Given the description of an element on the screen output the (x, y) to click on. 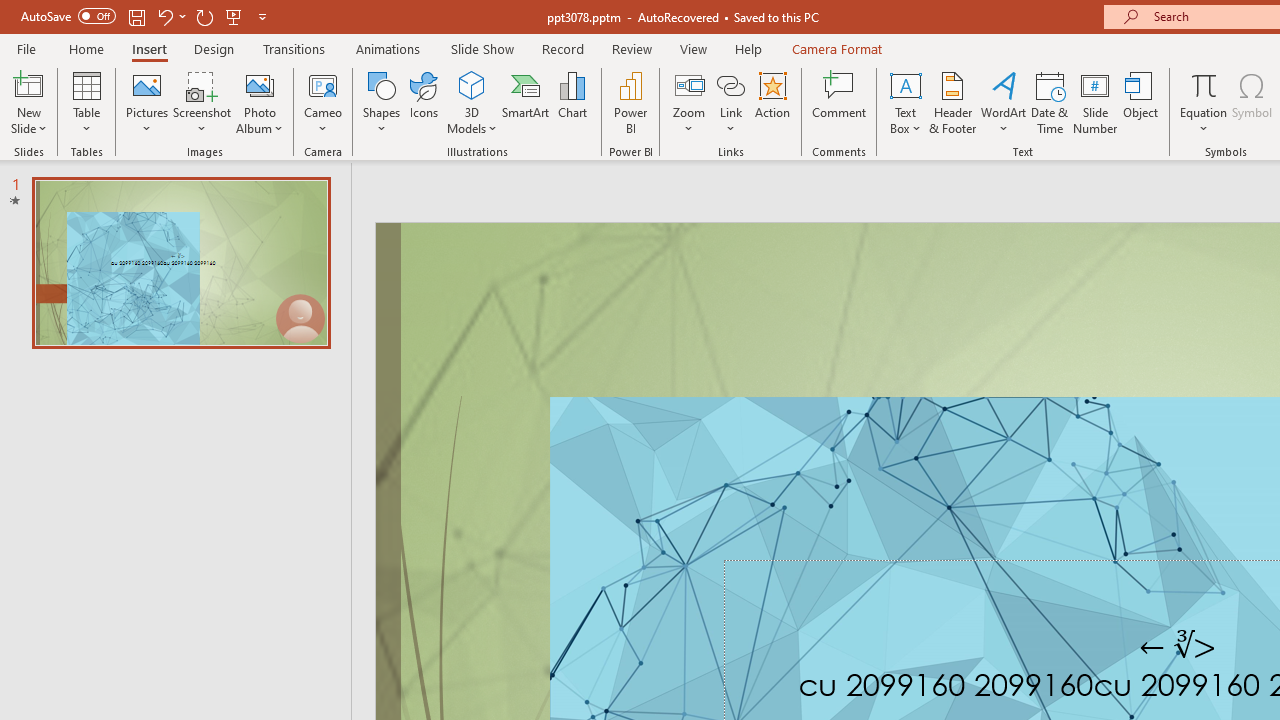
Photo Album... (259, 102)
Object... (1141, 102)
Equation (1203, 84)
Slide Number (1095, 102)
Draw Horizontal Text Box (905, 84)
Table (86, 102)
Link (731, 102)
